Given the description of an element on the screen output the (x, y) to click on. 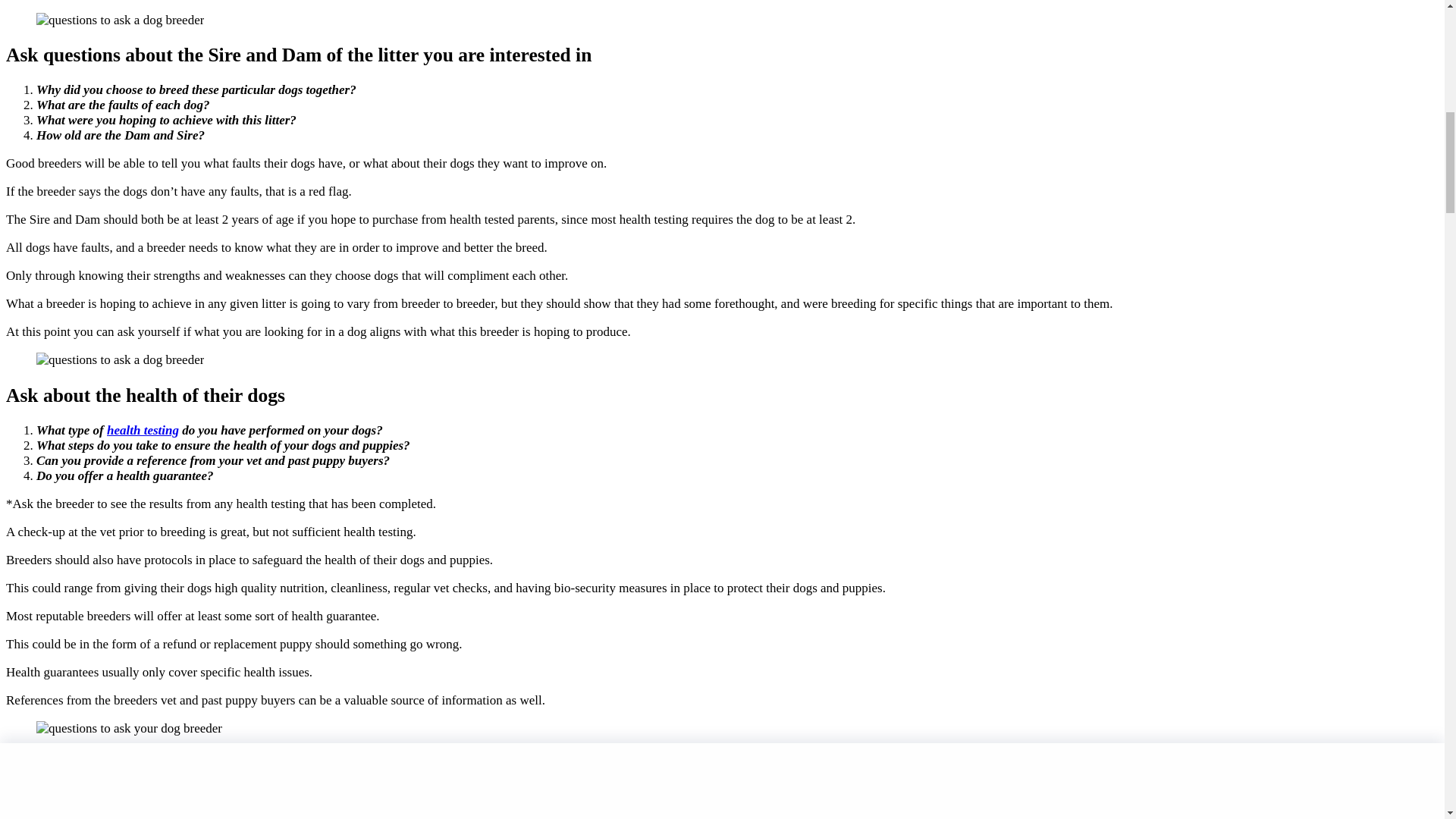
health testing (142, 430)
